Given the description of an element on the screen output the (x, y) to click on. 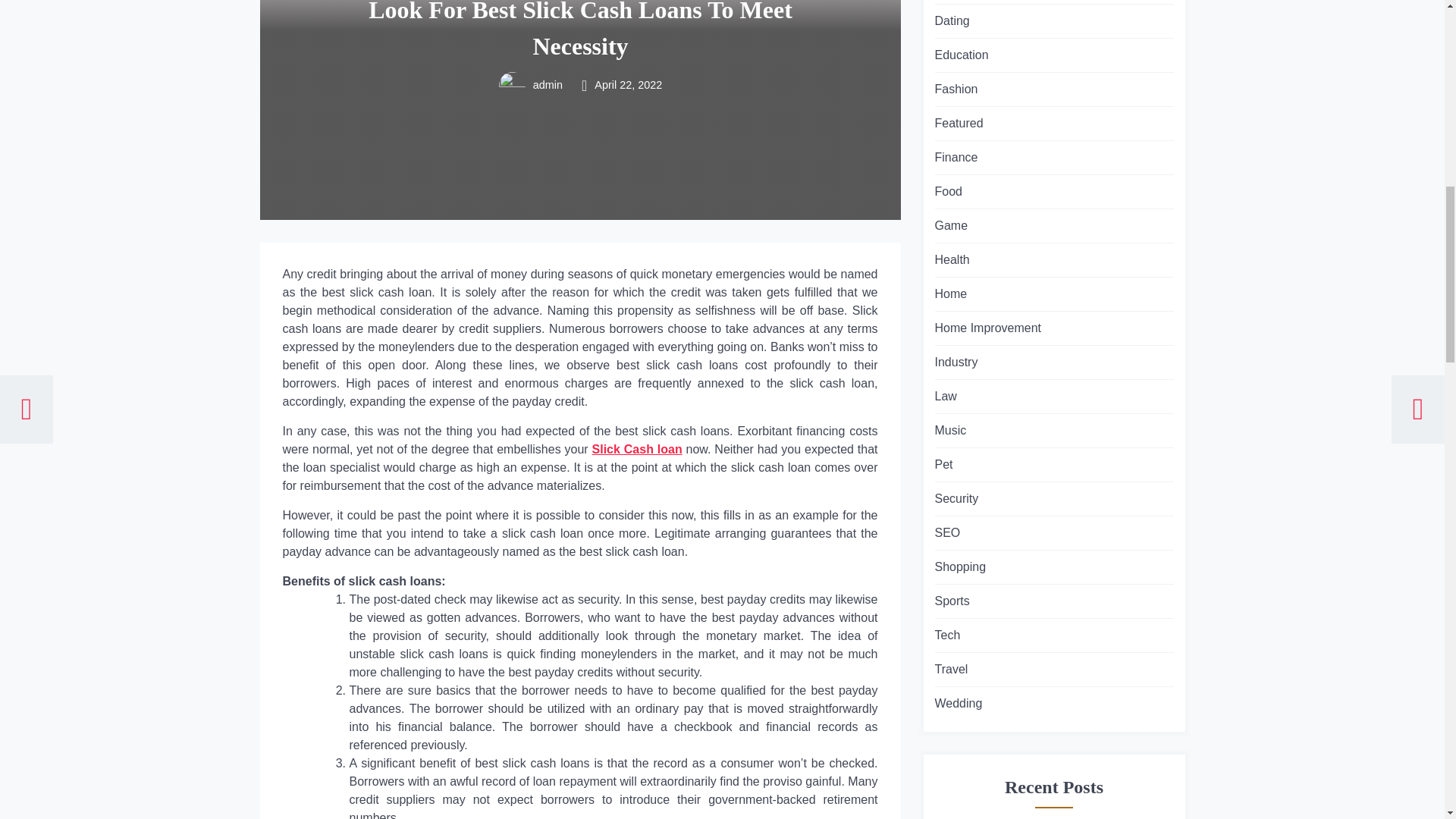
April 22, 2022 (628, 84)
admin (547, 84)
Slick Cash loan (637, 449)
